Given the description of an element on the screen output the (x, y) to click on. 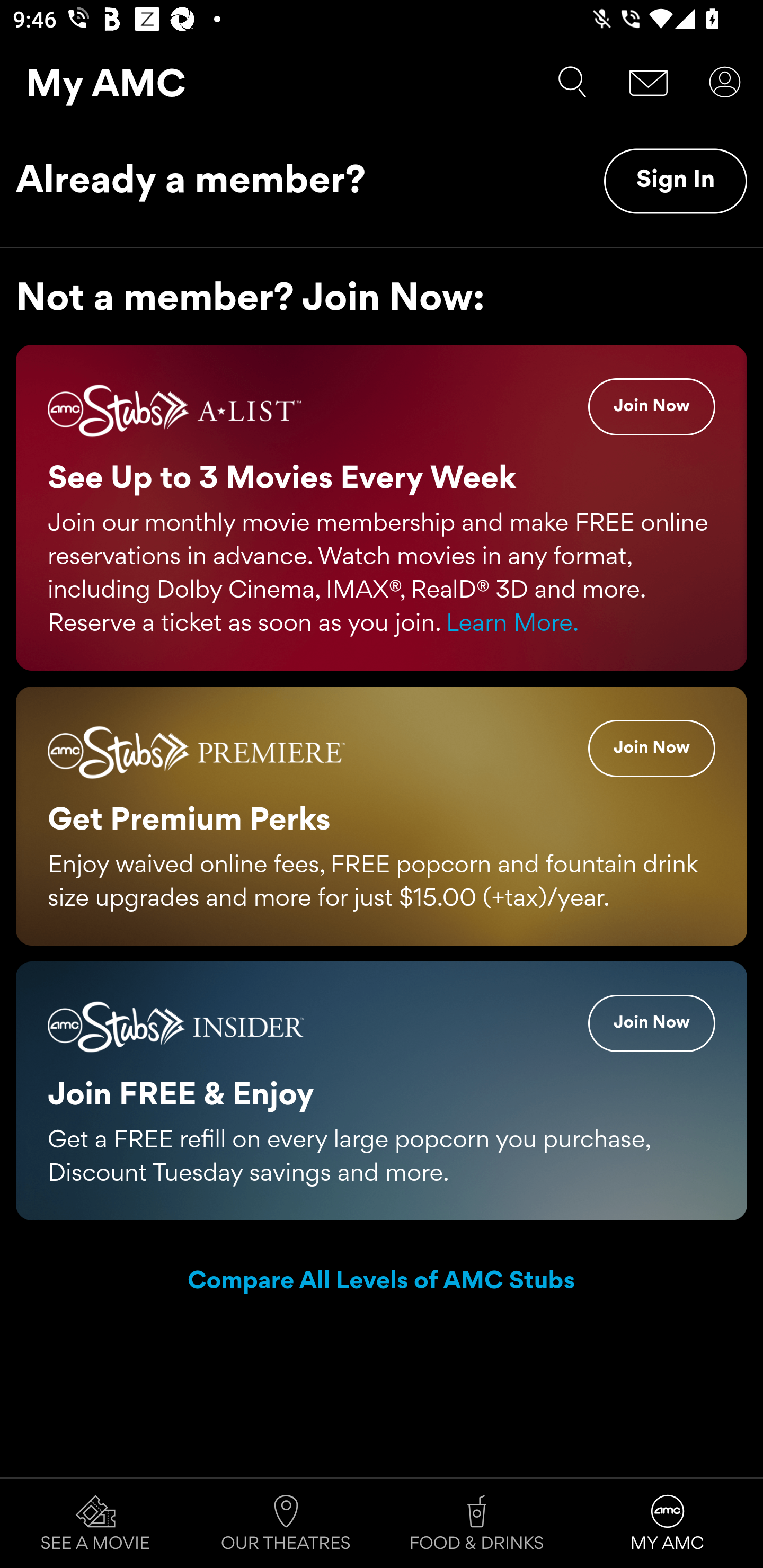
Search (572, 82)
Message Center (648, 82)
User Account (724, 82)
Sign In (675, 180)
A-List Join Now (651, 406)
Premiere Join Now (651, 748)
Insider Join Now (651, 1022)
Compare All Levels of AMC Stubs (381, 1282)
SEE A MOVIE
Tab 1 of 4 (95, 1523)
OUR THEATRES
Tab 2 of 4 (285, 1523)
FOOD & DRINKS
Tab 3 of 4 (476, 1523)
MY AMC
Tab 4 of 4 (667, 1523)
